Given the description of an element on the screen output the (x, y) to click on. 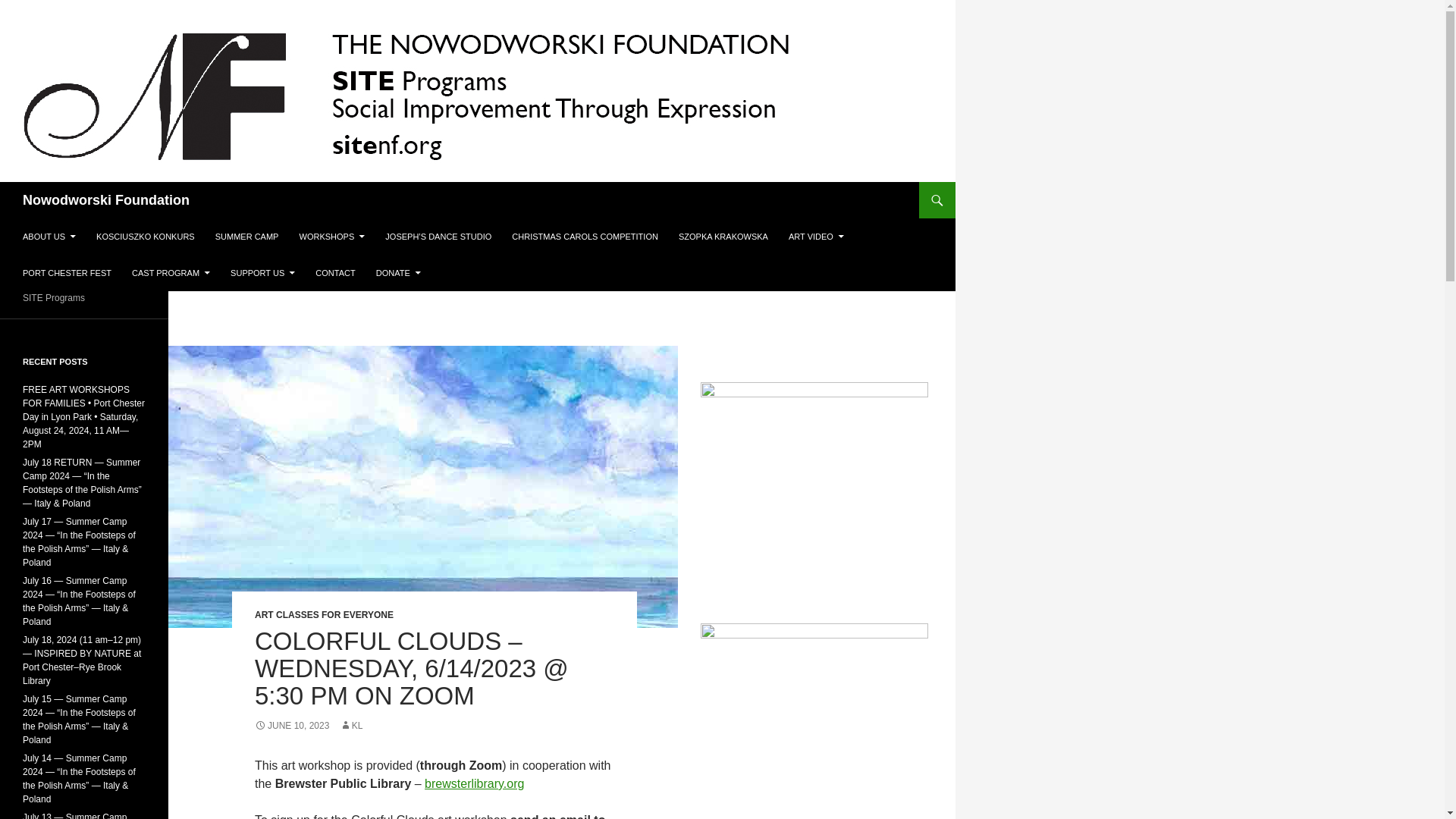
SUMMER CAMP (247, 236)
ABOUT US (48, 236)
KOSCIUSZKO KONKURS (145, 236)
Nowodworski Foundation (106, 199)
CHRISTMAS CAROLS COMPETITION (584, 236)
PORT CHESTER FEST (66, 272)
CAST PROGRAM (170, 272)
SZOPKA KRAKOWSKA (723, 236)
